Given the description of an element on the screen output the (x, y) to click on. 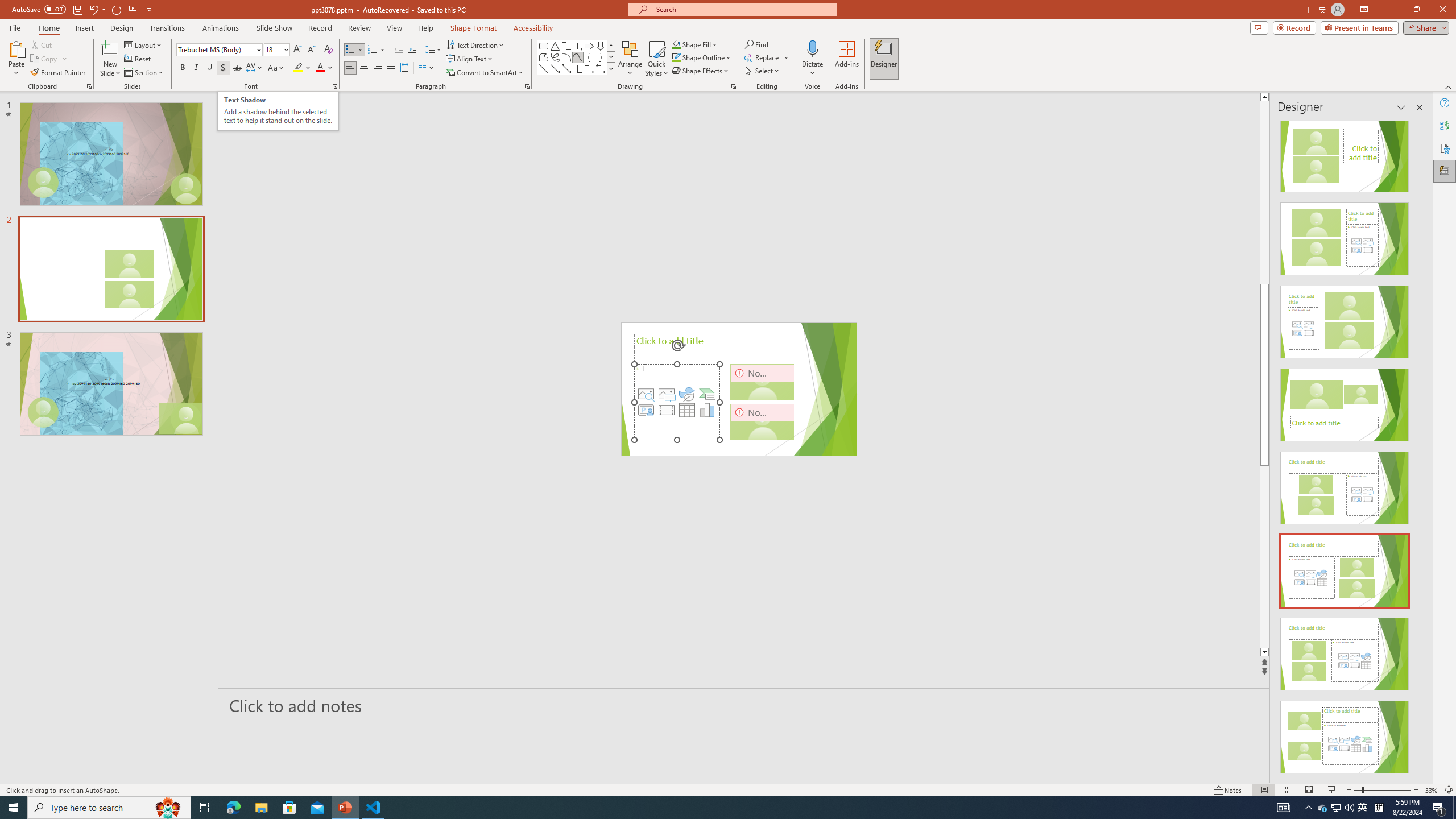
Content Placeholder (676, 401)
